Given the description of an element on the screen output the (x, y) to click on. 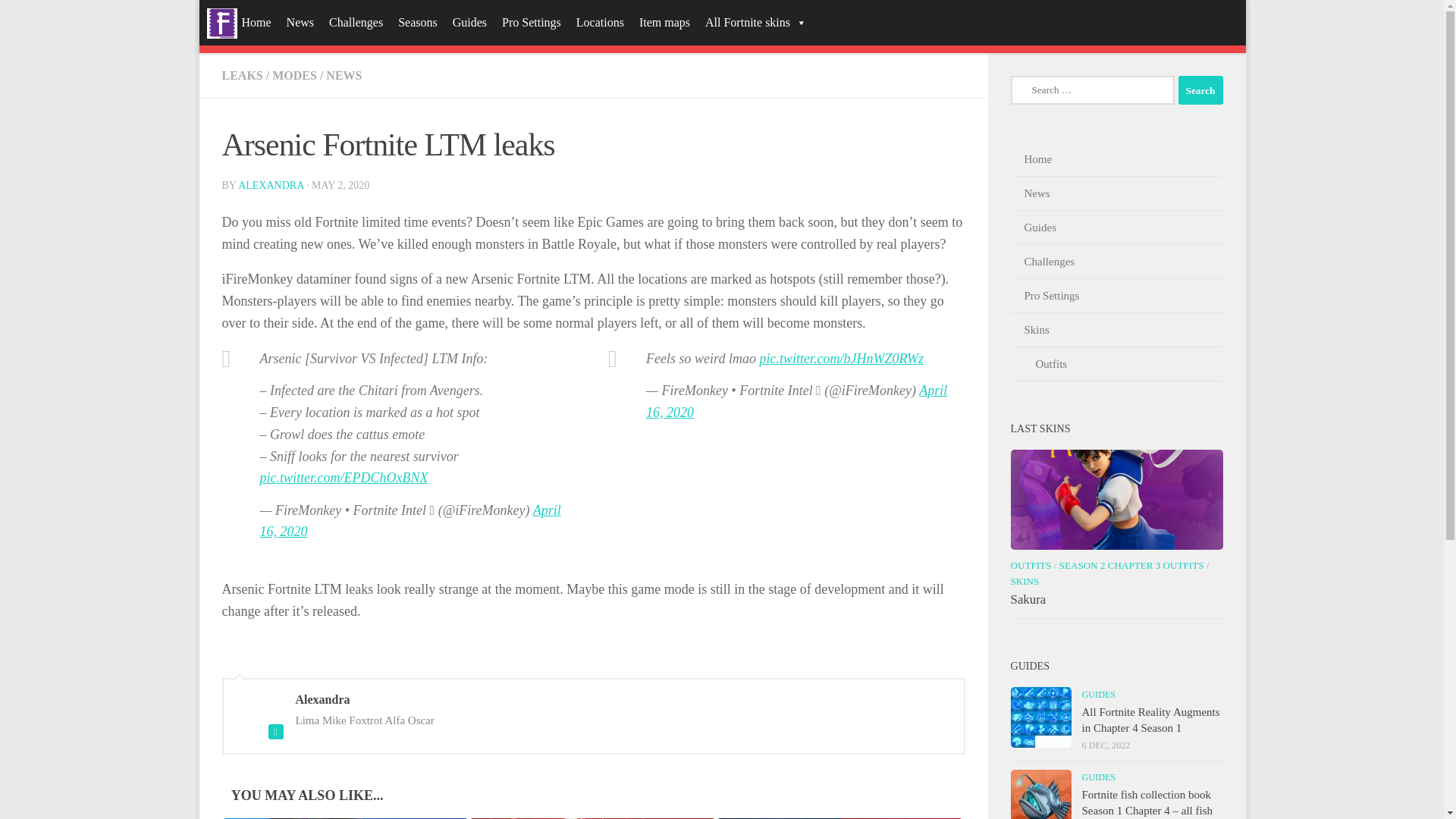
Home (238, 22)
Posts by Alexandra (270, 184)
All Fortnite Reality Augments in Chapter 4 Season 1   (1040, 717)
NEWS (343, 74)
MODES (294, 74)
All Fortnite skins (755, 22)
Skip to content (258, 20)
Seasons (417, 22)
